Given the description of an element on the screen output the (x, y) to click on. 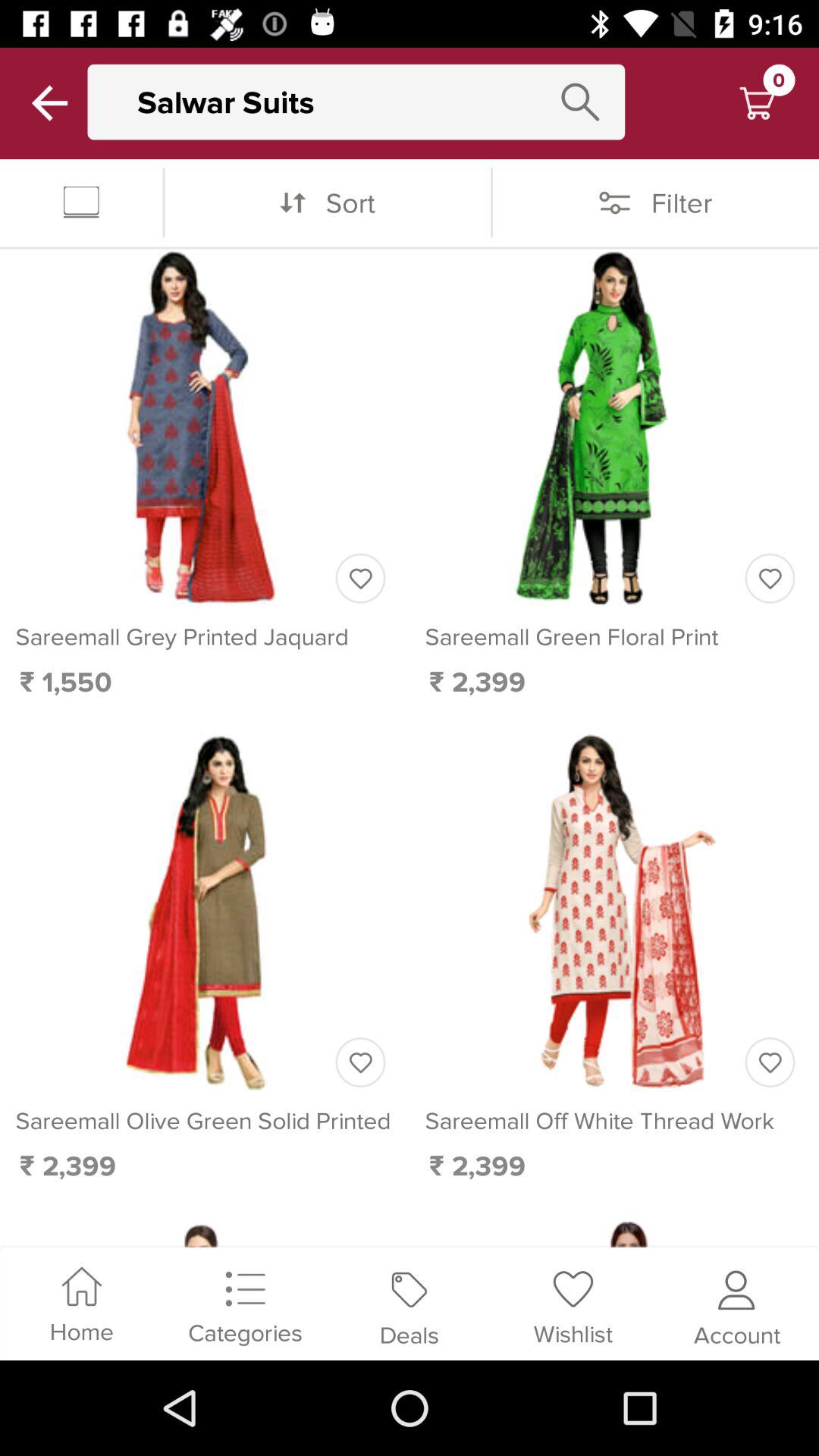
save as favorite (360, 1062)
